Given the description of an element on the screen output the (x, y) to click on. 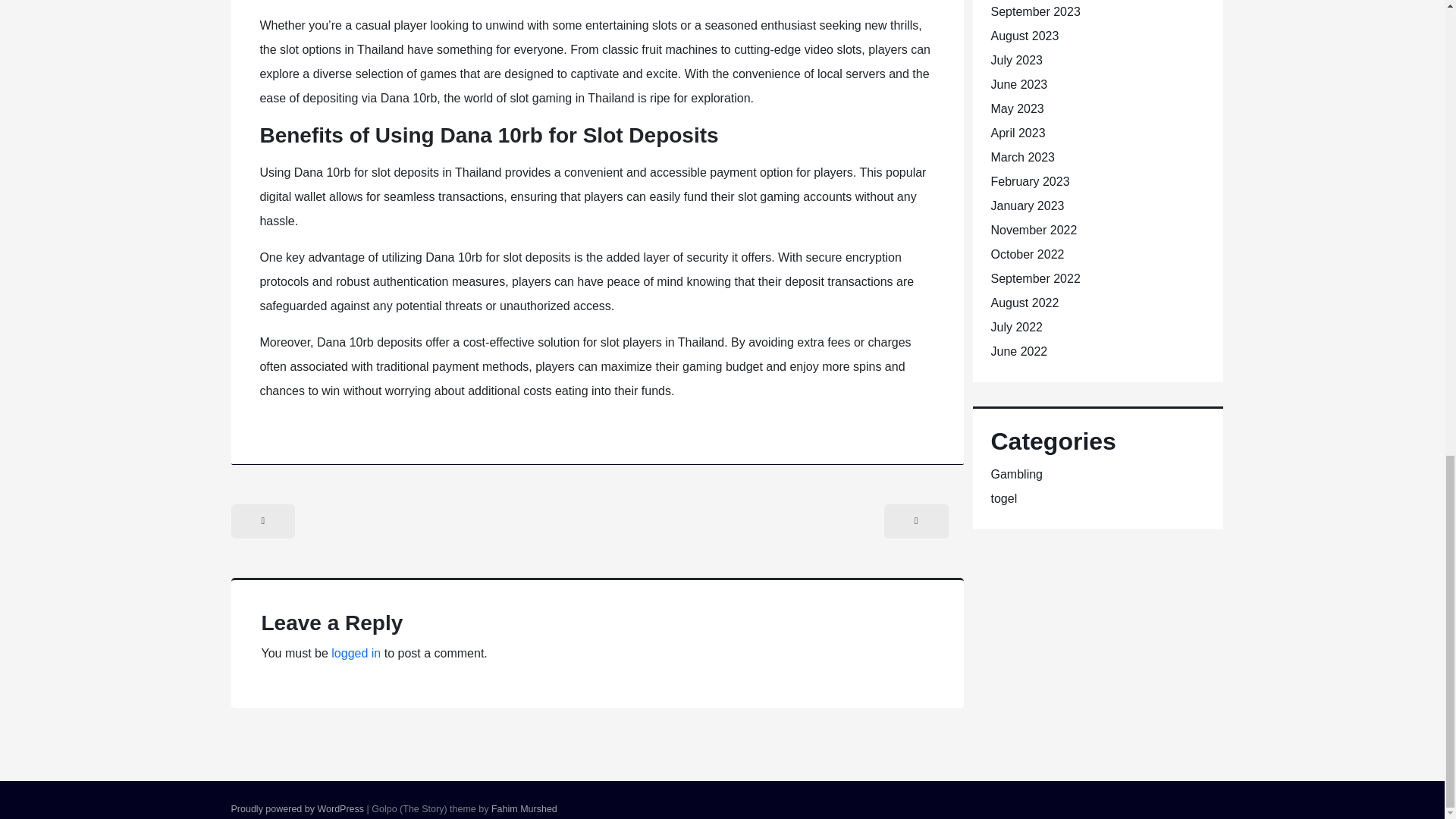
August 2023 (1024, 35)
January 2023 (1027, 205)
May 2023 (1016, 108)
February 2023 (1029, 181)
April 2023 (1017, 132)
October 2022 (1027, 254)
March 2023 (1022, 156)
September 2023 (1035, 11)
July 2023 (1016, 60)
November 2022 (1033, 229)
logged in (355, 653)
September 2022 (1035, 278)
June 2023 (1018, 83)
